Given the description of an element on the screen output the (x, y) to click on. 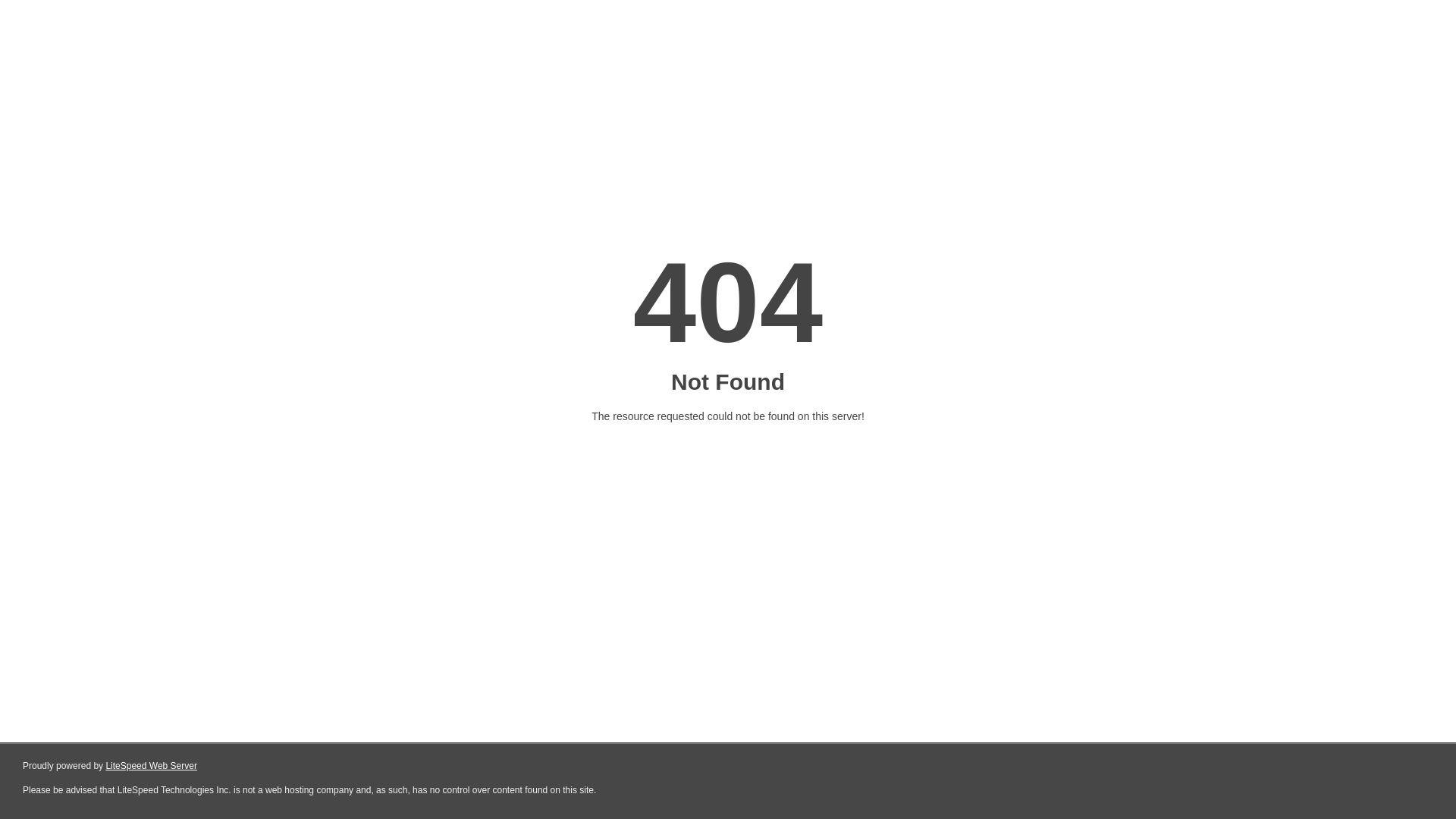
LiteSpeed Web Server Element type: text (151, 765)
